Given the description of an element on the screen output the (x, y) to click on. 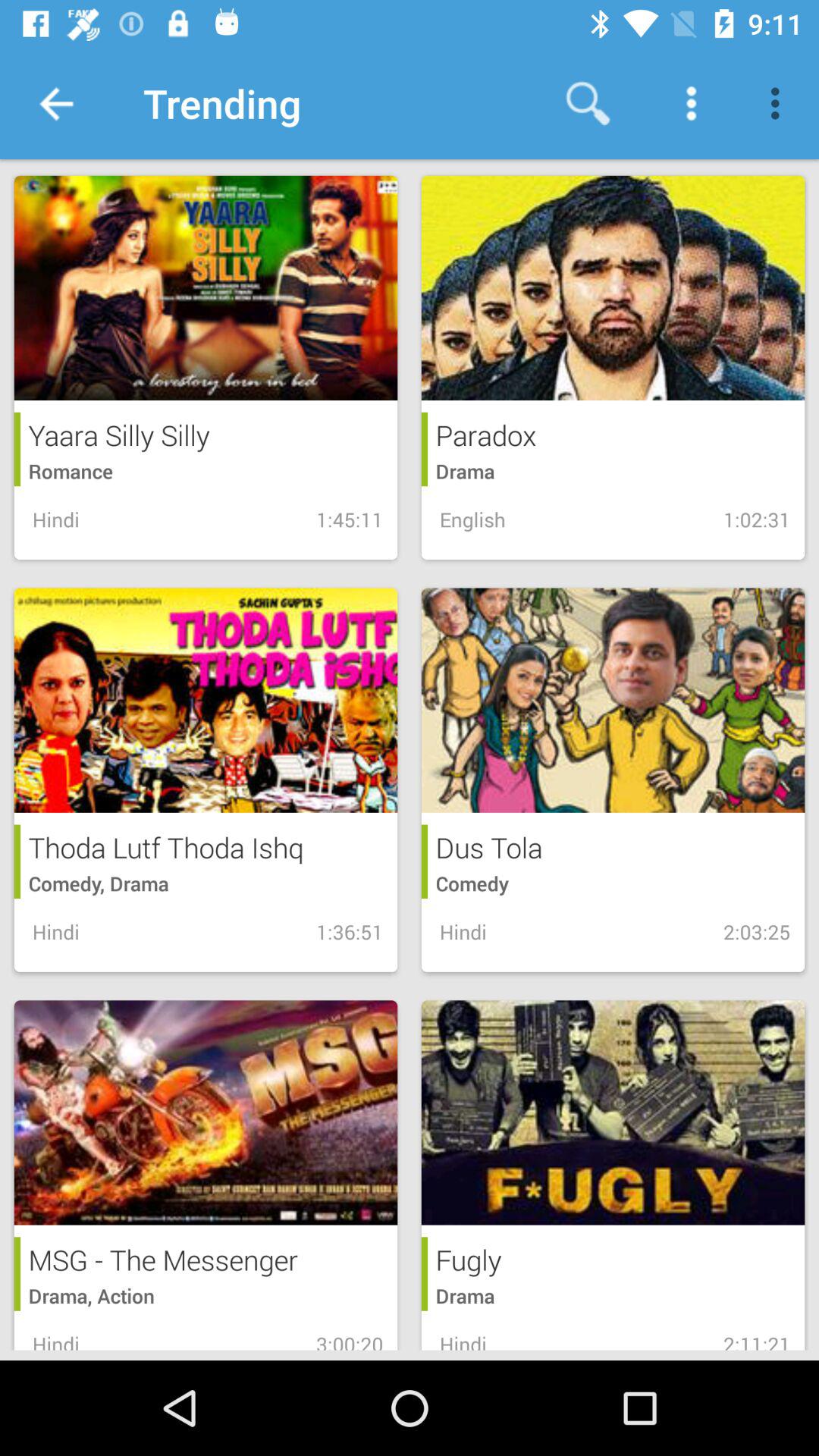
press the item next to the trending  icon (55, 103)
